Given the description of an element on the screen output the (x, y) to click on. 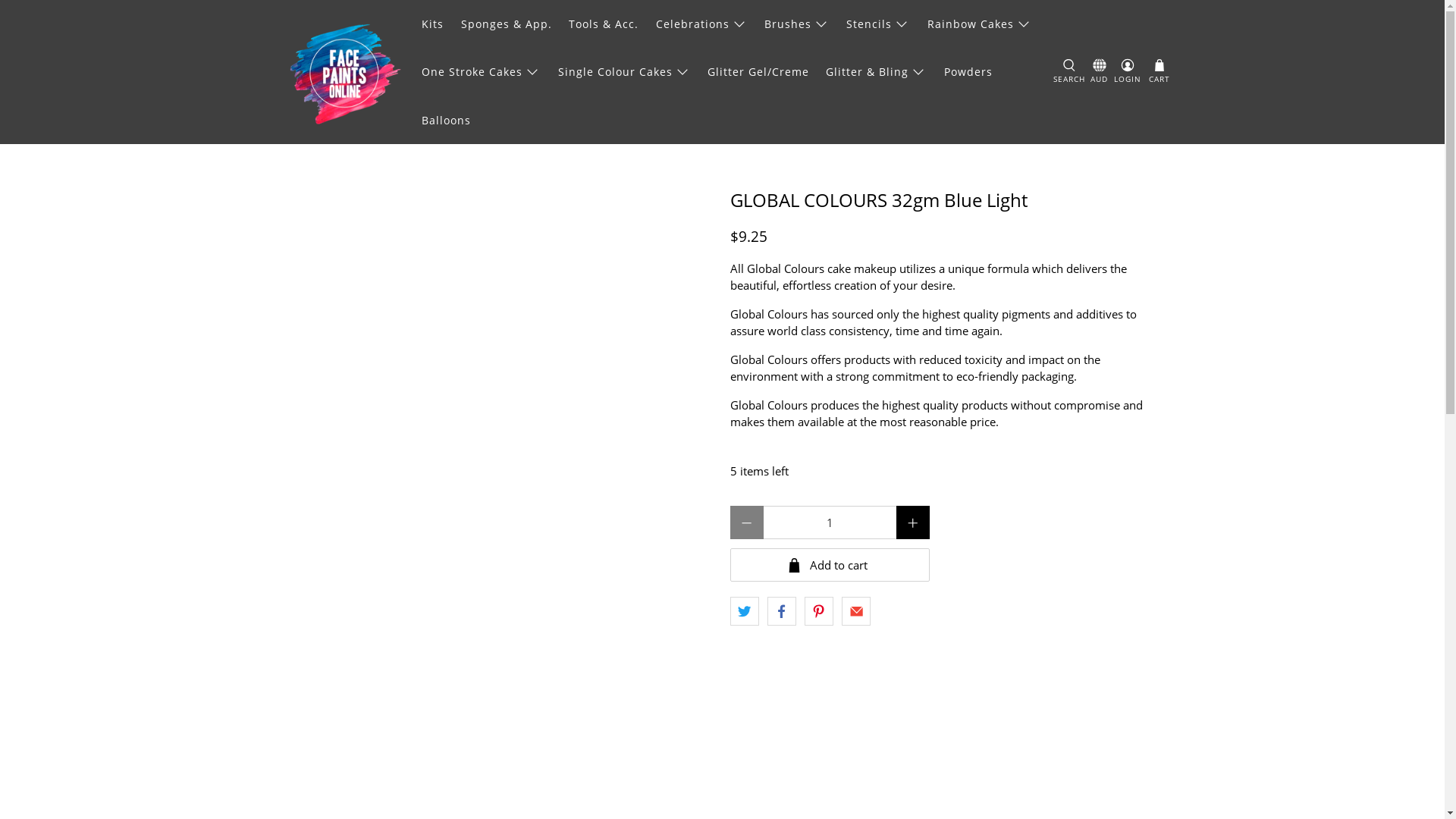
Share this on Facebook Element type: hover (781, 610)
Tools & Acc. Element type: text (603, 23)
Glitter Gel/Creme Element type: text (758, 71)
Add to cart Element type: text (828, 564)
Sponges & App. Element type: text (505, 23)
Celebrations Element type: text (701, 23)
Rainbow Cakes Element type: text (978, 23)
Kits Element type: text (432, 23)
Face Paints Online Element type: hover (343, 71)
Share this on Pinterest Element type: hover (818, 610)
Balloons Element type: text (446, 119)
One Stroke Cakes Element type: text (481, 71)
Single Colour Cakes Element type: text (623, 71)
Brushes Element type: text (796, 23)
LOGIN Element type: text (1127, 72)
Powders Element type: text (968, 71)
CART Element type: text (1158, 71)
SEARCH Element type: text (1068, 72)
Stencils Element type: text (877, 23)
Glitter & Bling Element type: text (876, 71)
Email this to a friend Element type: hover (855, 610)
Share this on Twitter Element type: hover (743, 610)
